Given the description of an element on the screen output the (x, y) to click on. 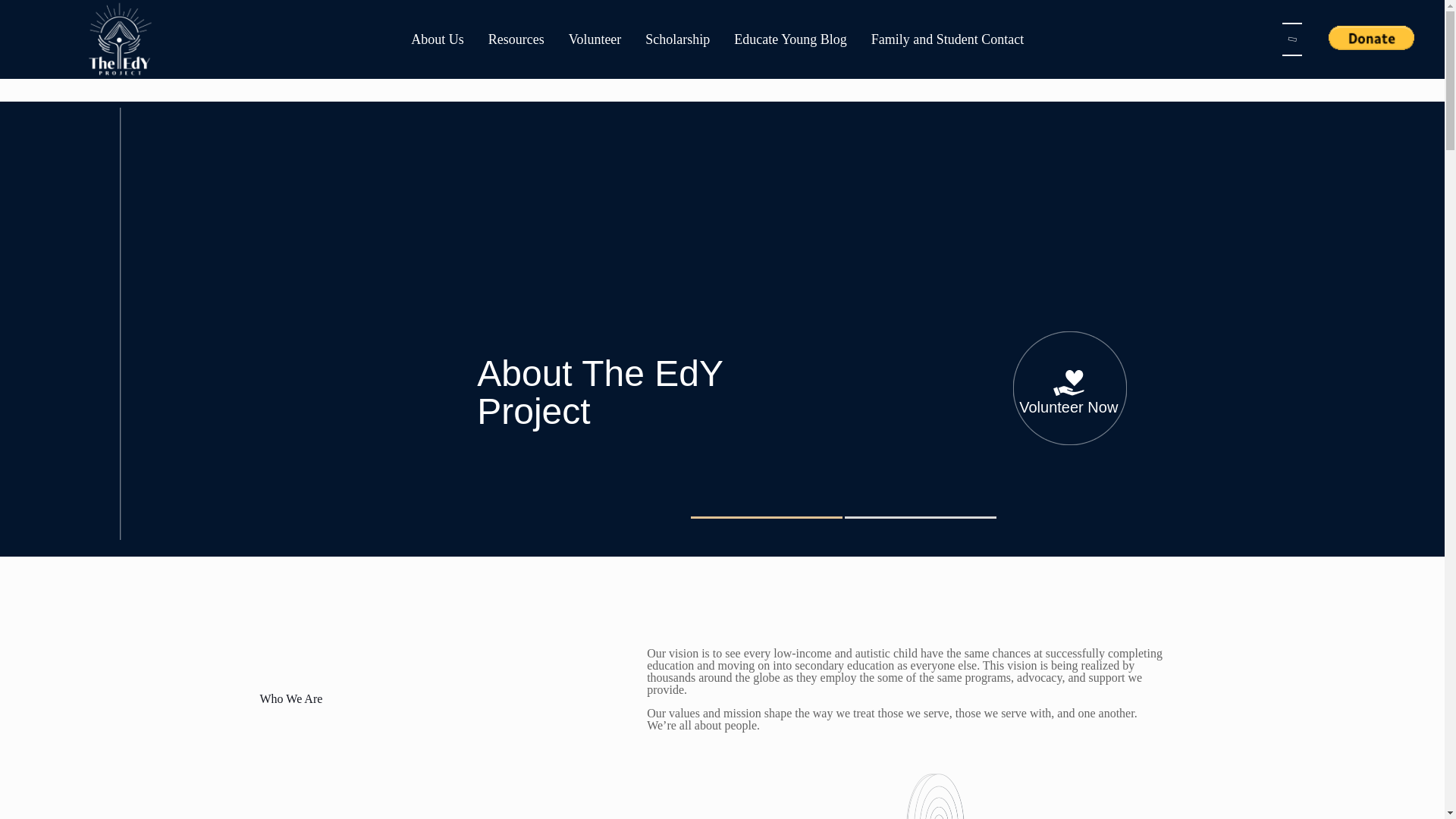
About Us (437, 39)
PayPal - The safer, easier way to pay online! (1371, 37)
Scholarship (677, 39)
Educate Young Blog (790, 39)
Resources (516, 39)
Family and Student Contact (947, 39)
Volunteer (594, 39)
